Given the description of an element on the screen output the (x, y) to click on. 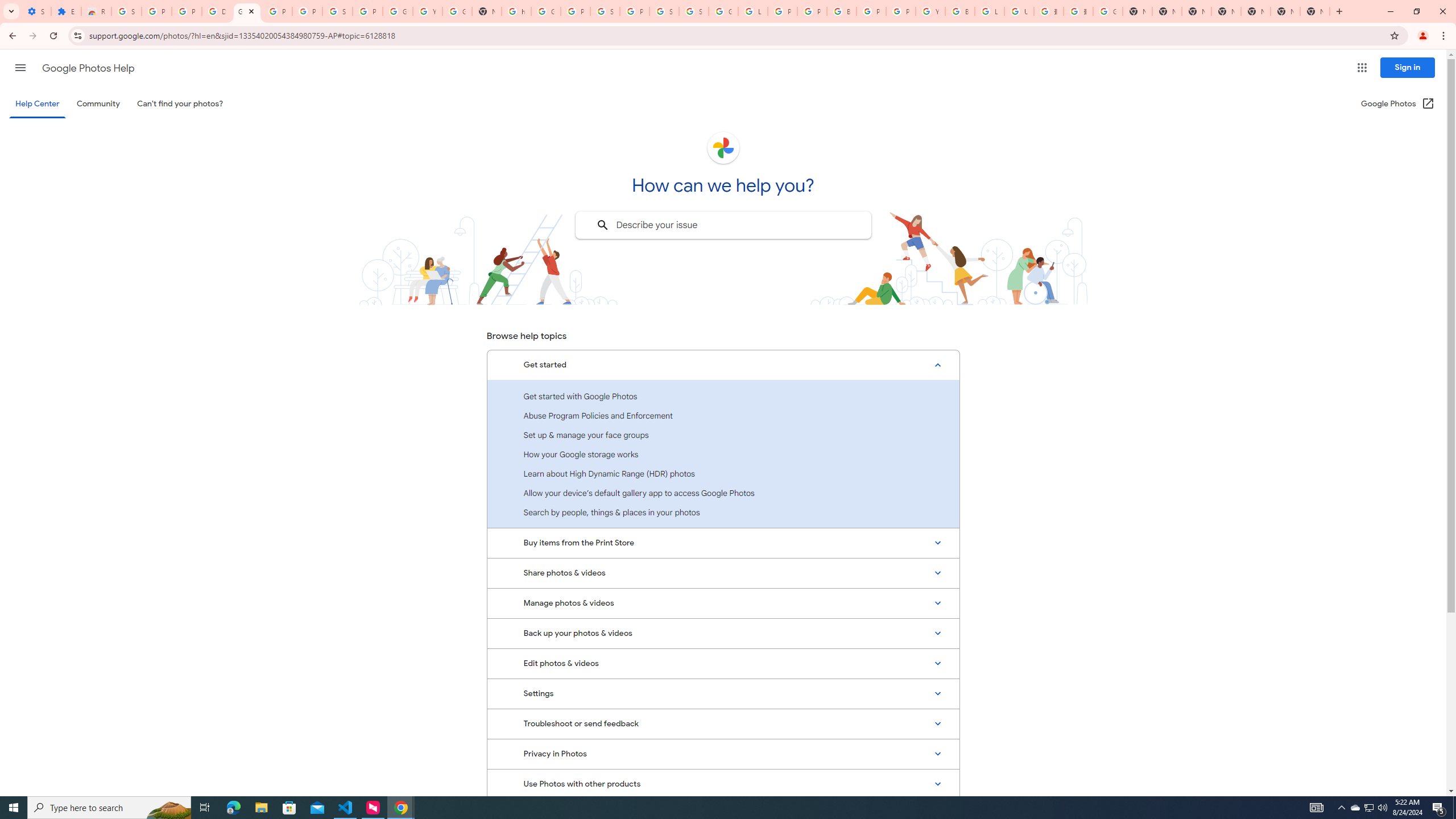
https://scholar.google.com/ (515, 11)
Settings - On startup (36, 11)
Abuse Program Policies and Enforcement (722, 415)
